Given the description of an element on the screen output the (x, y) to click on. 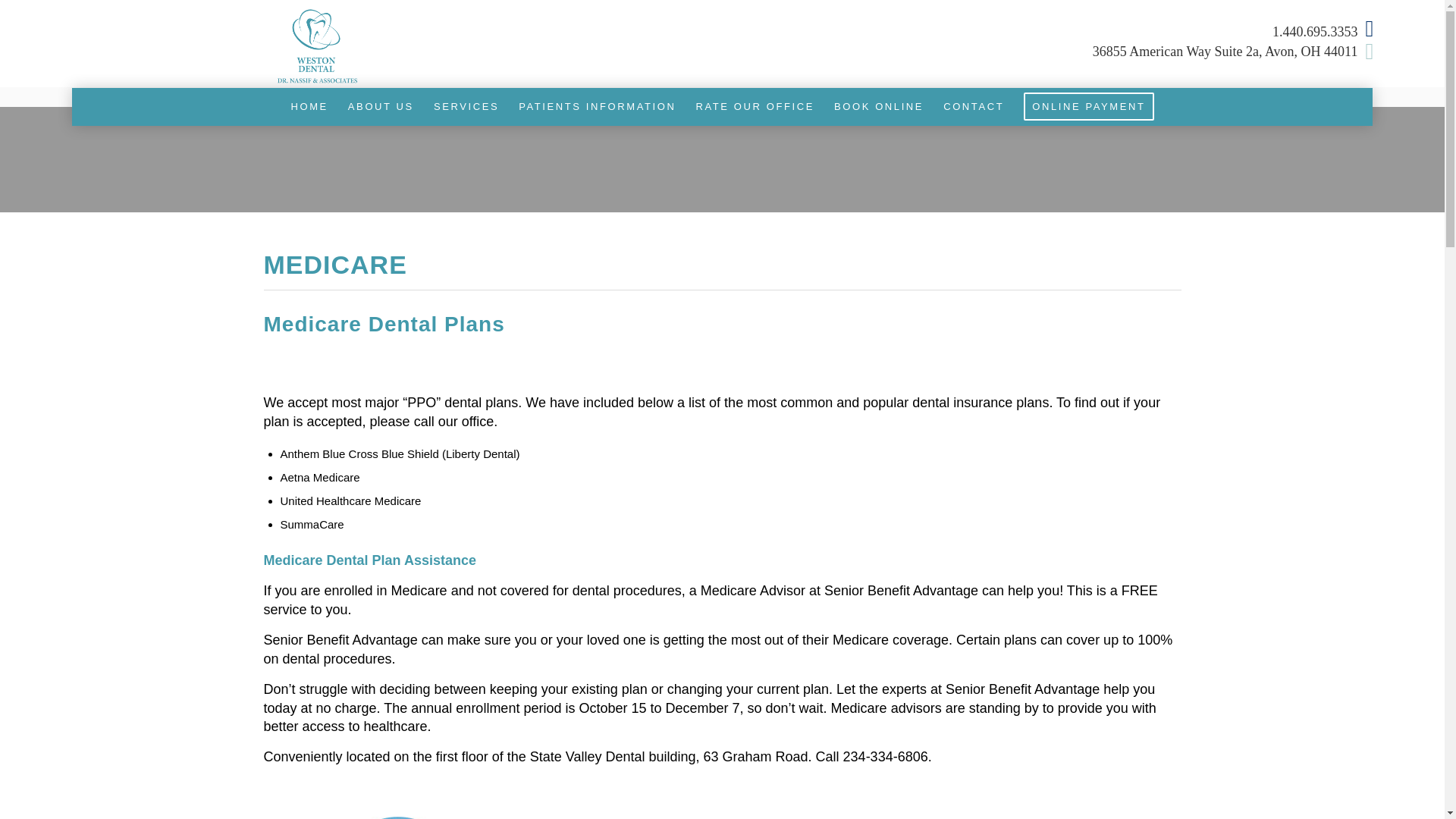
RATE OUR OFFICE (754, 106)
ONLINE PAYMENT (1088, 106)
CONTACT (973, 106)
BOOK ONLINE (878, 106)
PATIENTS INFORMATION (596, 106)
SERVICES (465, 106)
rep (397, 817)
ABOUT US (380, 106)
HOME (309, 106)
